Given the description of an element on the screen output the (x, y) to click on. 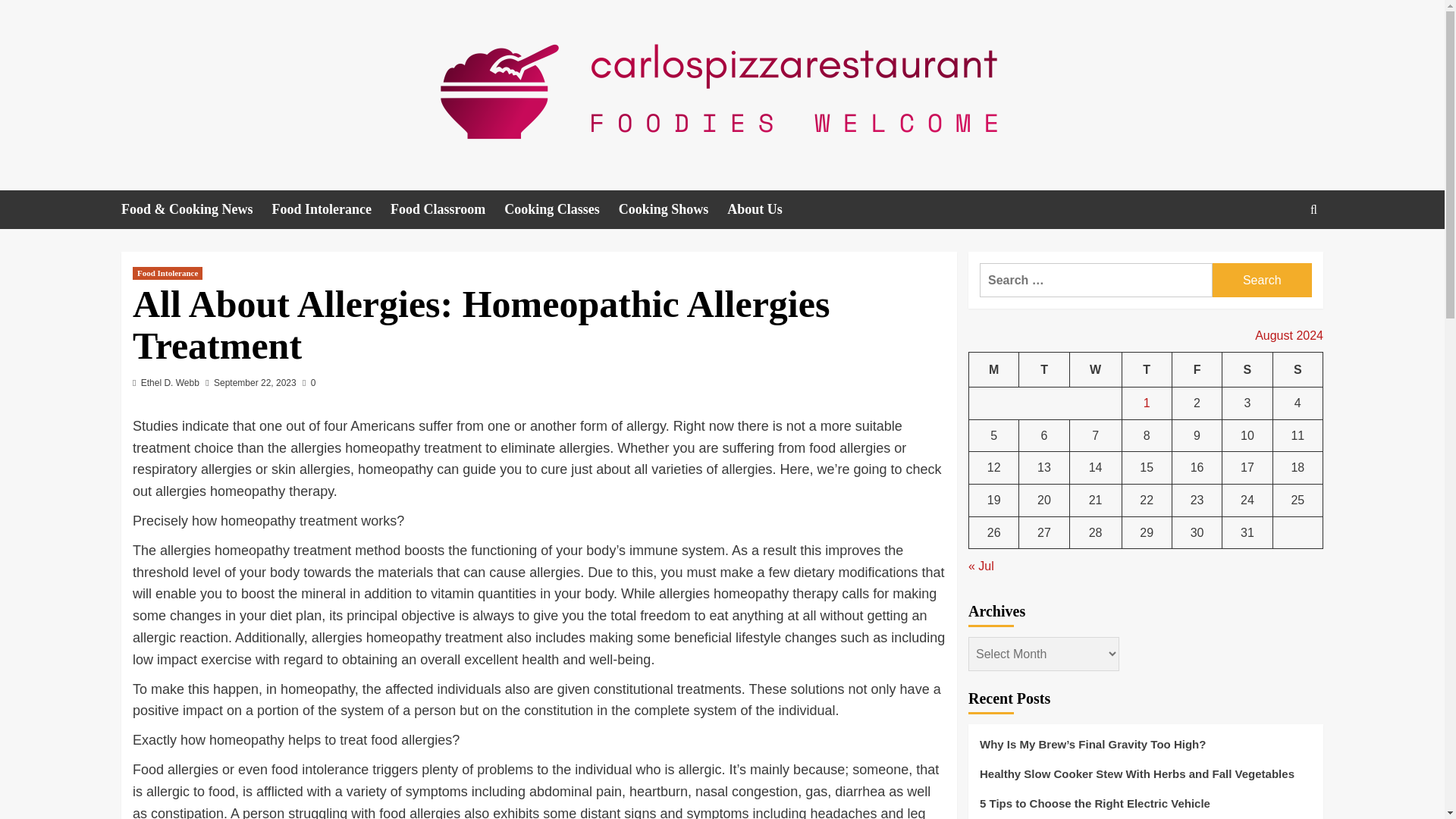
Search (1278, 256)
September 22, 2023 (255, 382)
0 (308, 382)
Food Classroom (446, 209)
About Us (764, 209)
Search (1261, 279)
Saturday (1247, 369)
Food Intolerance (167, 273)
Cooking Classes (560, 209)
Friday (1196, 369)
Tuesday (1043, 369)
Search (1261, 279)
Monday (994, 369)
Food Intolerance (331, 209)
Sunday (1297, 369)
